Given the description of an element on the screen output the (x, y) to click on. 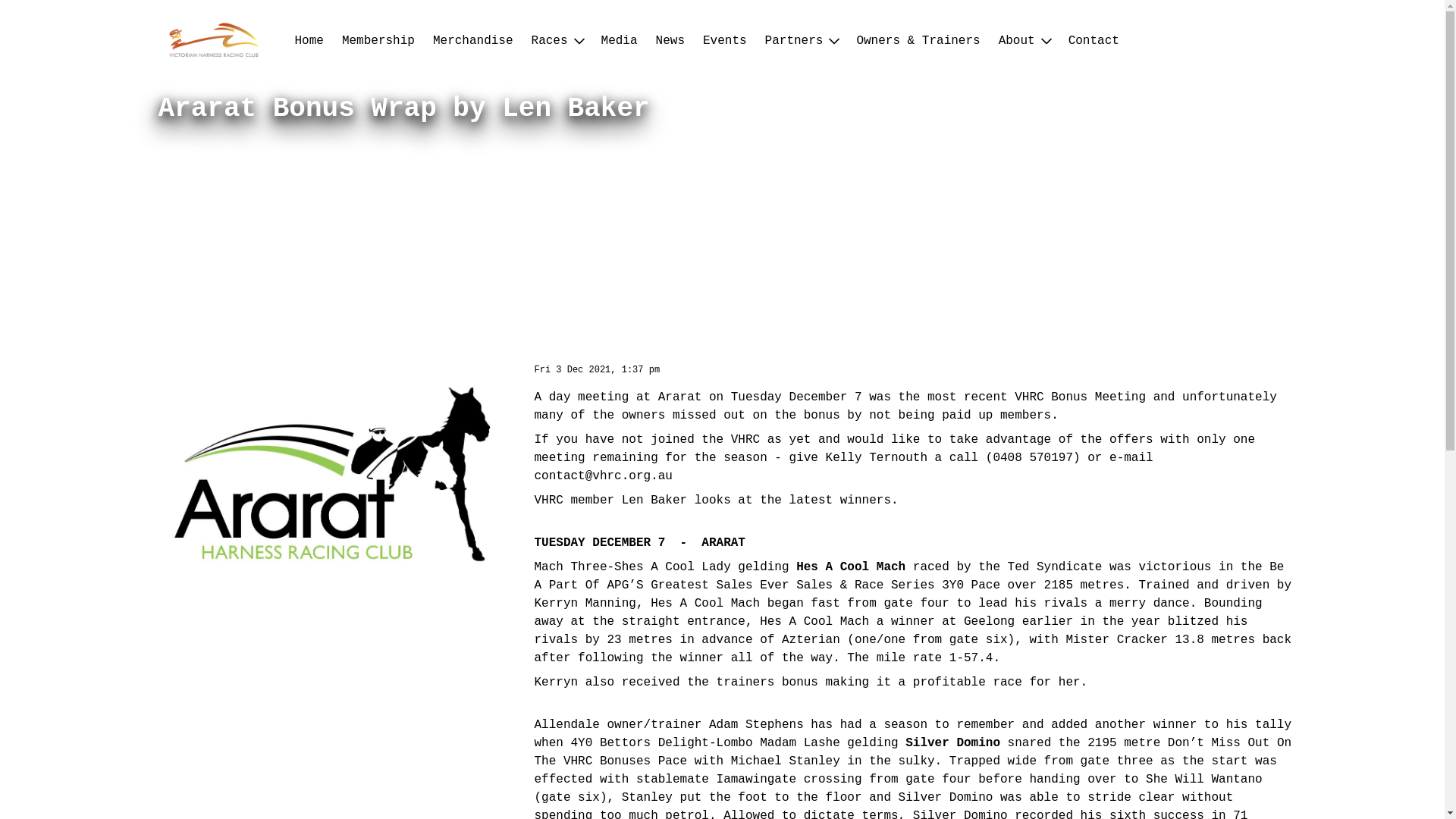
About Element type: text (1024, 40)
News Element type: text (669, 40)
Contact Element type: text (1093, 40)
Owners & Trainers Element type: text (917, 40)
Membership Element type: text (377, 40)
contact@vhrc.org.au Element type: text (602, 476)
Races Element type: text (557, 40)
Partners Element type: text (801, 40)
Home Element type: text (308, 40)
Events Element type: text (724, 40)
Merchandise Element type: text (472, 40)
Media Element type: text (619, 40)
